Given the description of an element on the screen output the (x, y) to click on. 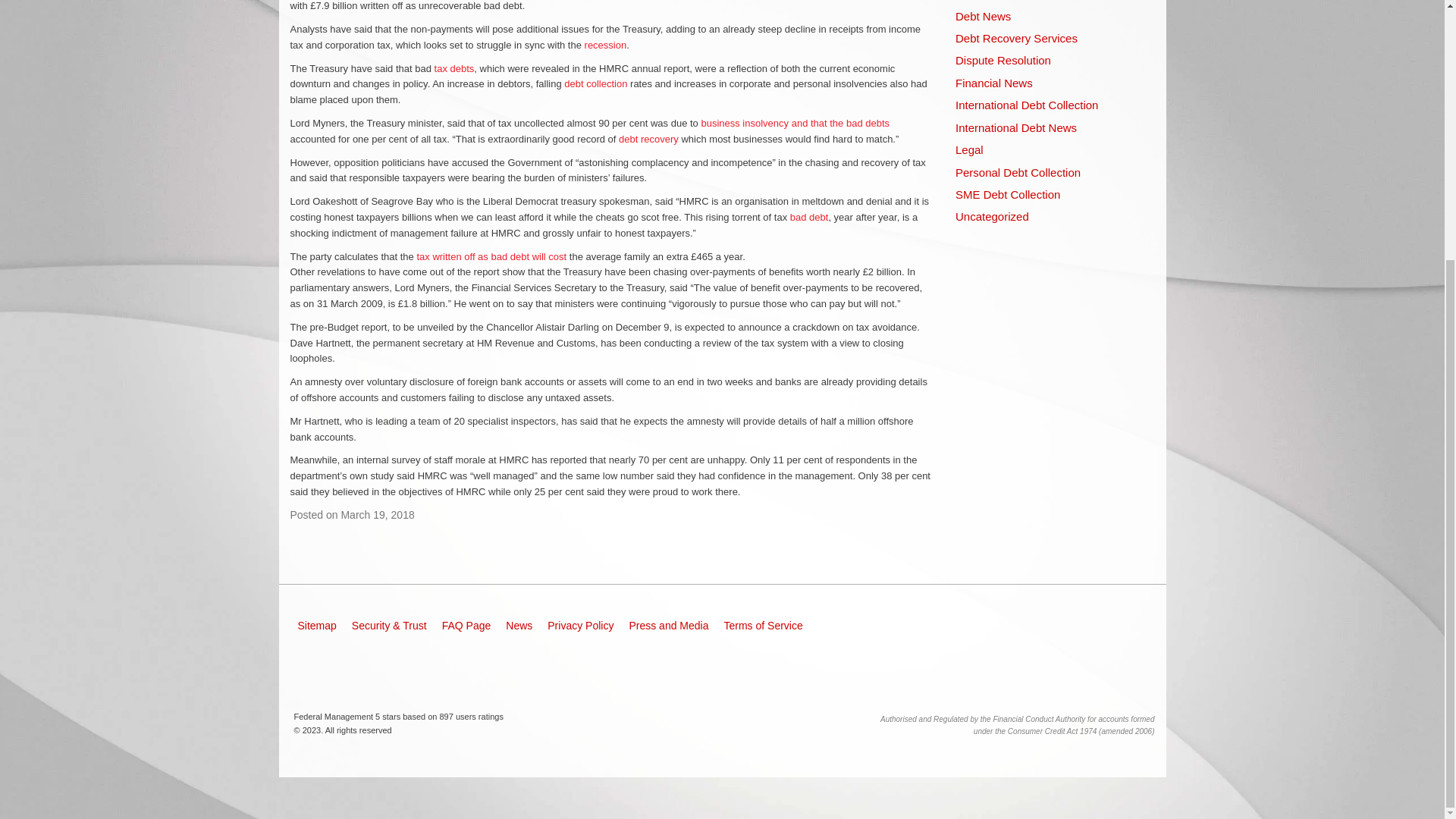
Five Stars on Trust Pilot (931, 678)
Twitter Icon (369, 665)
Information Commissioner's Office Website (991, 631)
bad debt (809, 216)
YouTube Icon (420, 665)
recession (606, 44)
Investors in People (1123, 631)
debt collection (595, 83)
tax debts (453, 68)
